Given the description of an element on the screen output the (x, y) to click on. 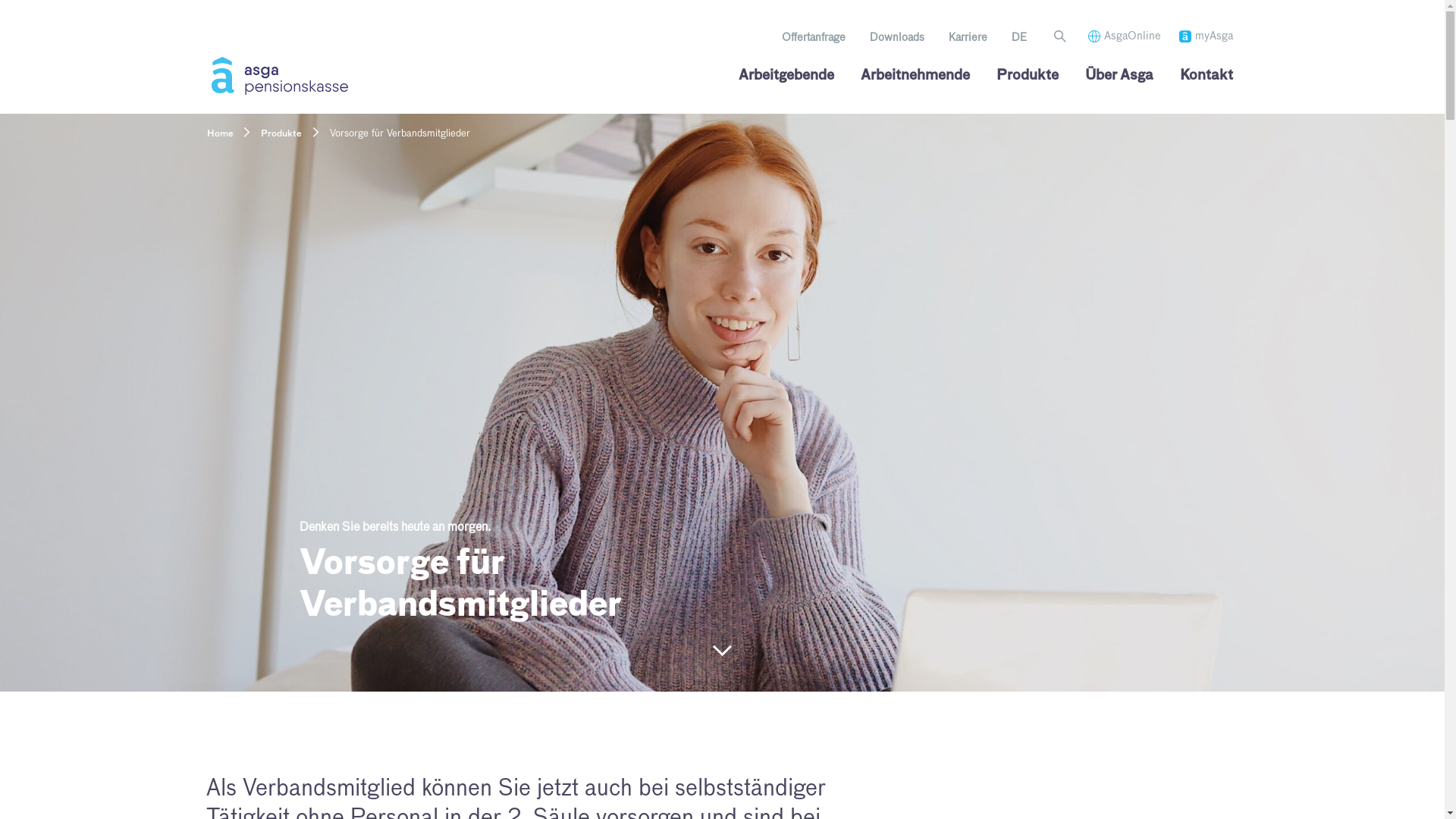
Produkte Element type: text (280, 133)
Offertanfrage Element type: text (813, 37)
Karriere Element type: text (967, 37)
DE Element type: text (1018, 37)
Kontakt Element type: text (1206, 75)
Produkte Element type: text (1027, 75)
AsgaOnline Element type: text (1124, 36)
Arbeitgebende Element type: text (786, 75)
Downloads Element type: text (896, 37)
myAsga Element type: text (1206, 36)
Home Element type: text (219, 133)
Arbeitnehmende Element type: text (914, 75)
